Given the description of an element on the screen output the (x, y) to click on. 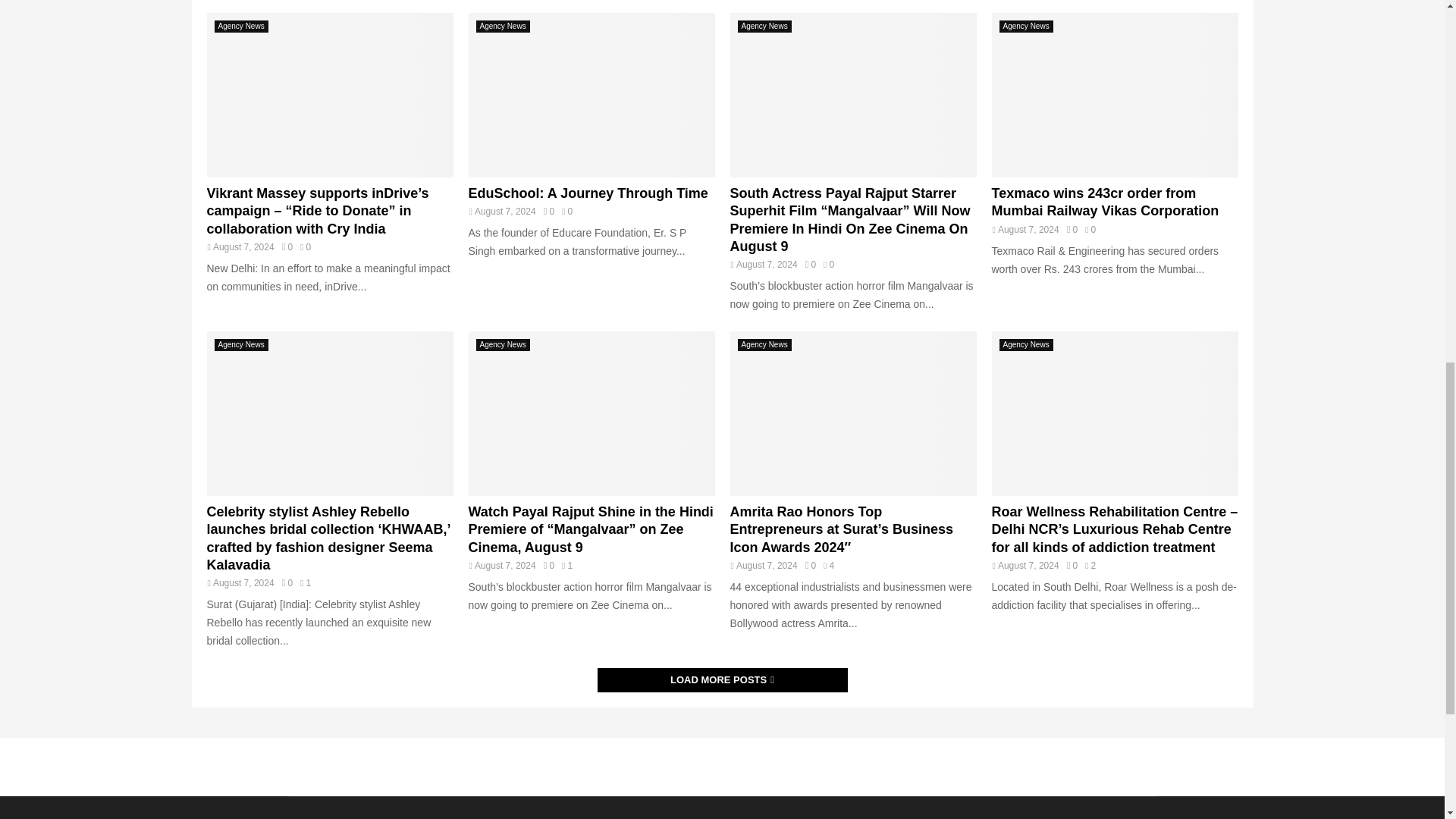
View all posts in Agency News (240, 26)
0 (1072, 229)
EduSchool: A Journey Through Time (587, 192)
View all posts in Agency News (240, 345)
Agency News (240, 345)
View all posts in Agency News (1025, 26)
0 (287, 246)
Agency News (763, 26)
Agency News (502, 26)
View all posts in Agency News (502, 26)
